Given the description of an element on the screen output the (x, y) to click on. 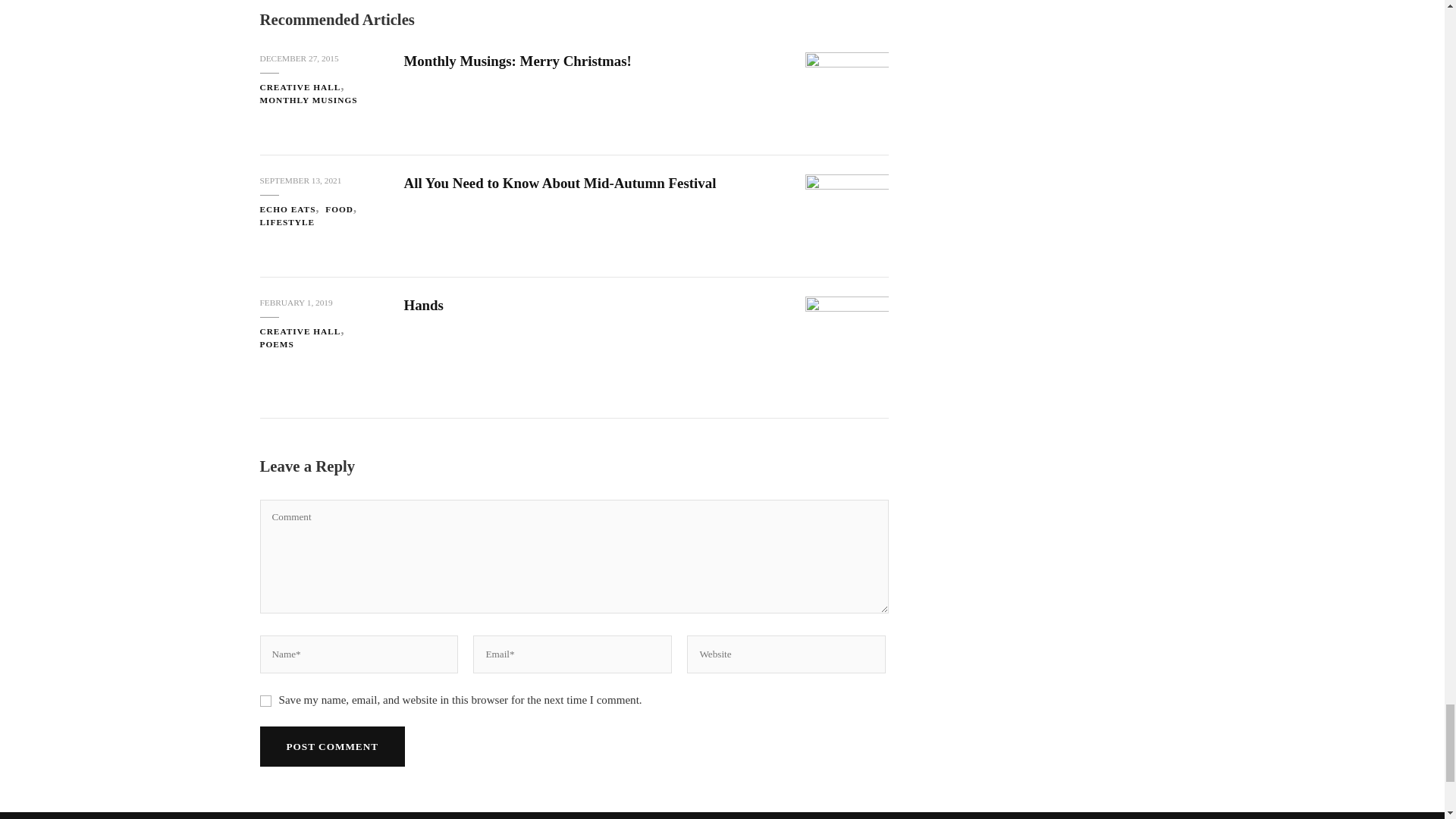
Post Comment (331, 746)
